Given the description of an element on the screen output the (x, y) to click on. 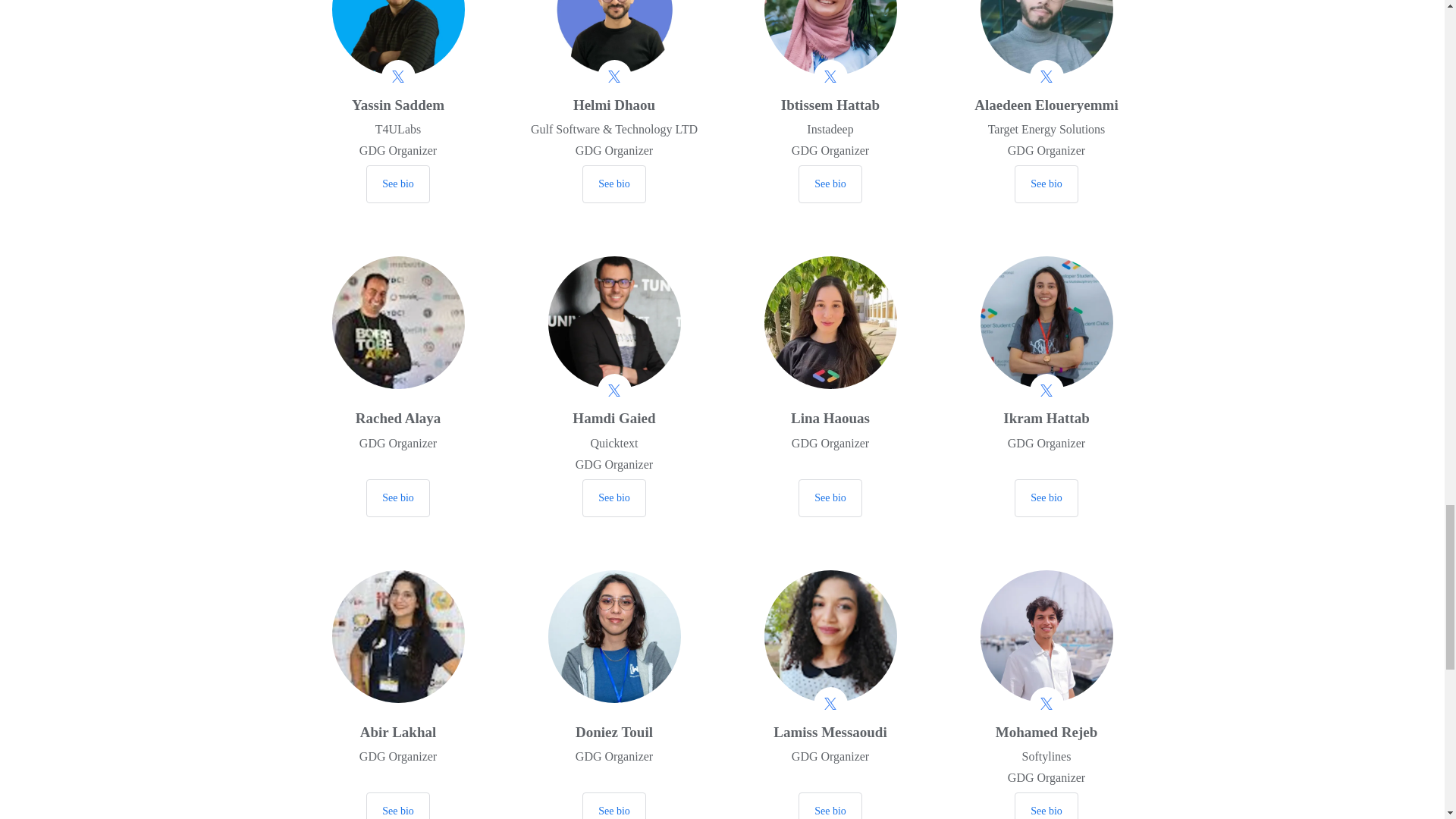
See bio (829, 184)
See bio (397, 184)
See bio (614, 184)
